Given the description of an element on the screen output the (x, y) to click on. 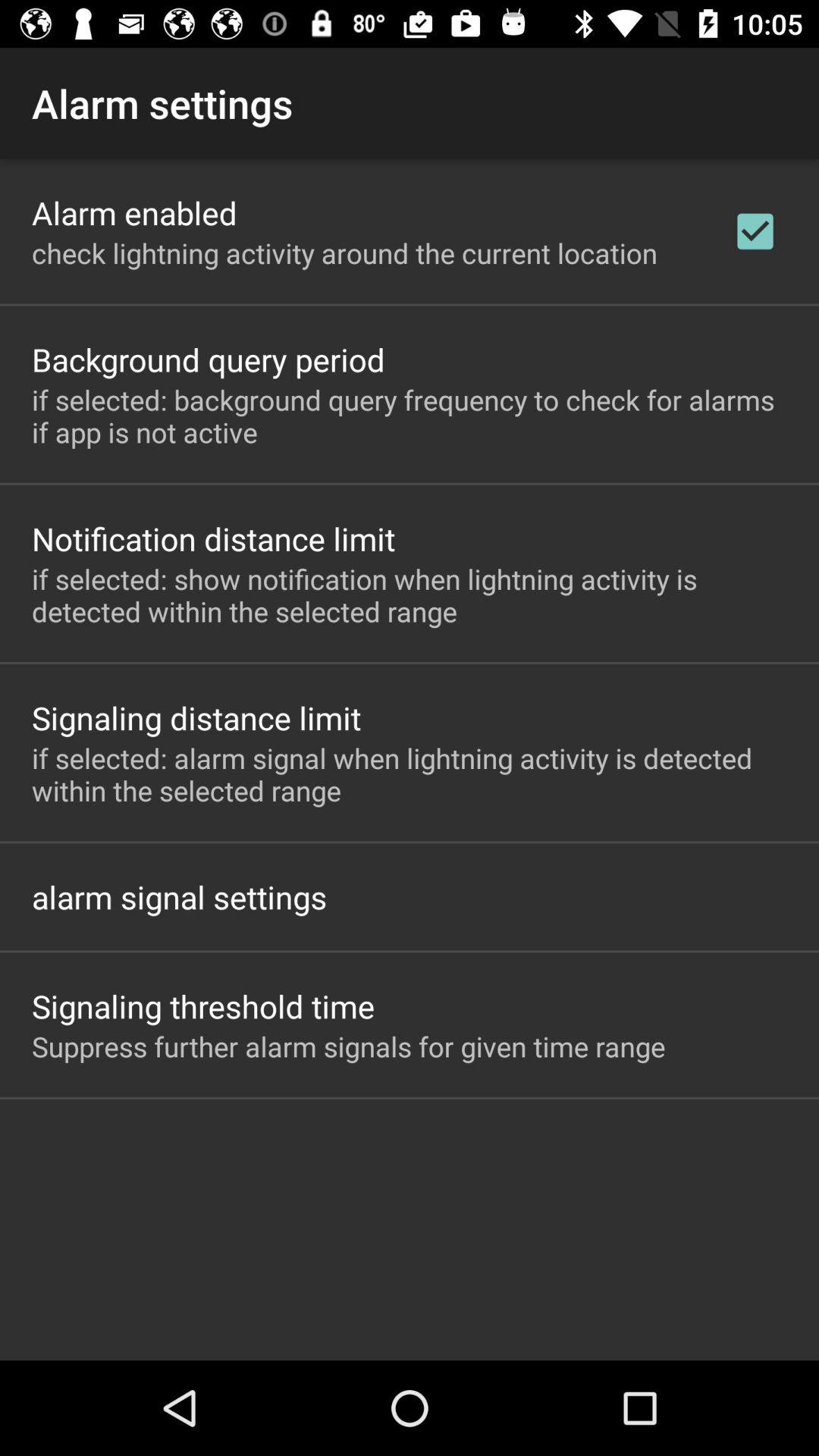
tap signaling threshold time at the bottom left corner (202, 1005)
